Given the description of an element on the screen output the (x, y) to click on. 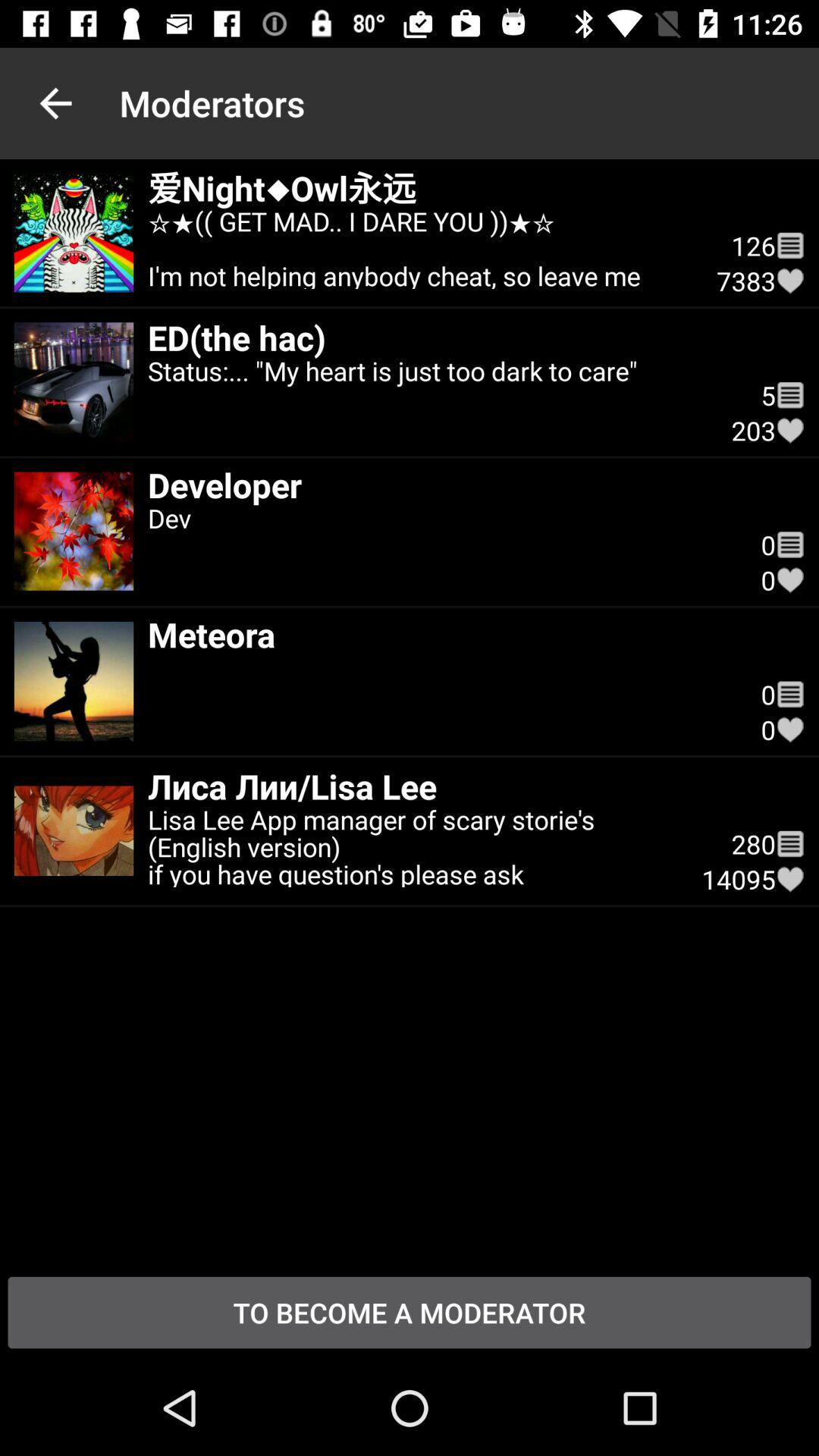
choose 14095 item (738, 878)
